Given the description of an element on the screen output the (x, y) to click on. 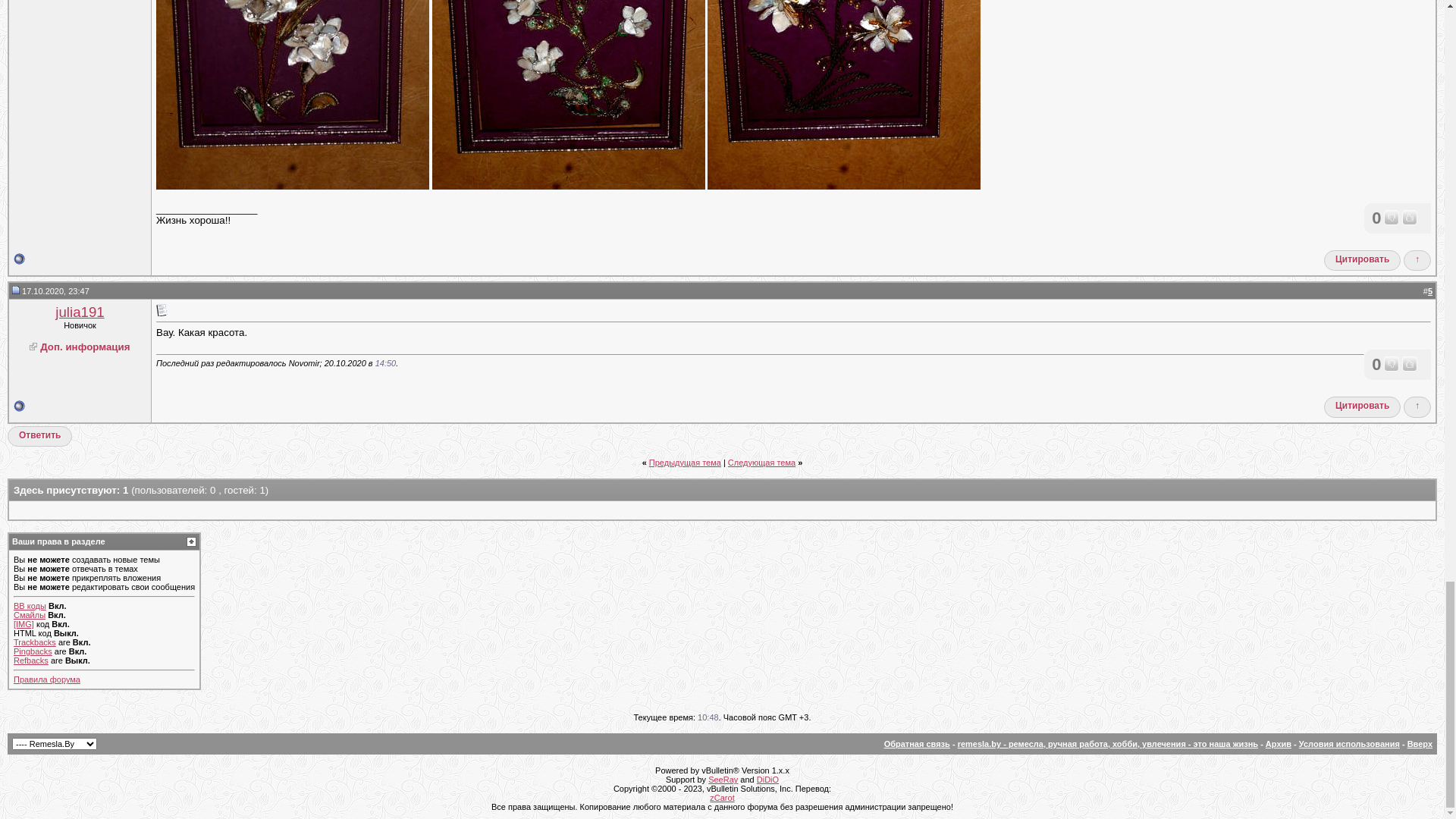
2 Element type: text (38, 276)
3 Element type: text (51, 276)
Bookmark and Share Element type: hover (1322, 404)
0 Element type: text (1377, 686)
2 Element type: text (1429, 760)
1 Element type: text (25, 276)
5 Element type: text (78, 276)
4 Element type: text (65, 276)
1 Element type: text (1429, 423)
